Given the description of an element on the screen output the (x, y) to click on. 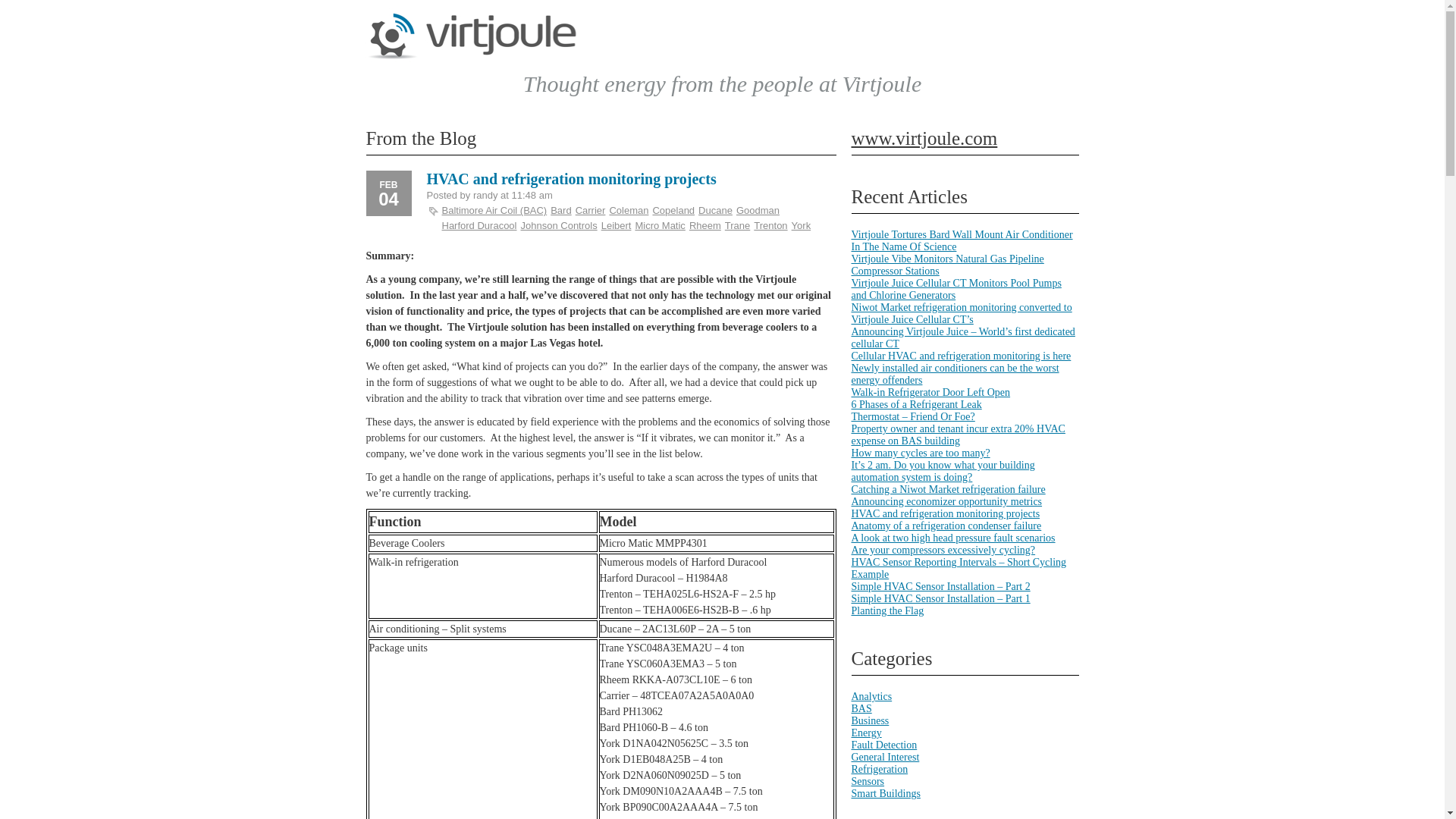
York (801, 225)
Carrier (590, 210)
Coleman (627, 210)
Cellular HVAC and refrigeration monitoring is here (960, 355)
Copeland (673, 210)
Goodman (757, 210)
Virtjoule (471, 55)
Rheem (704, 225)
